Given the description of an element on the screen output the (x, y) to click on. 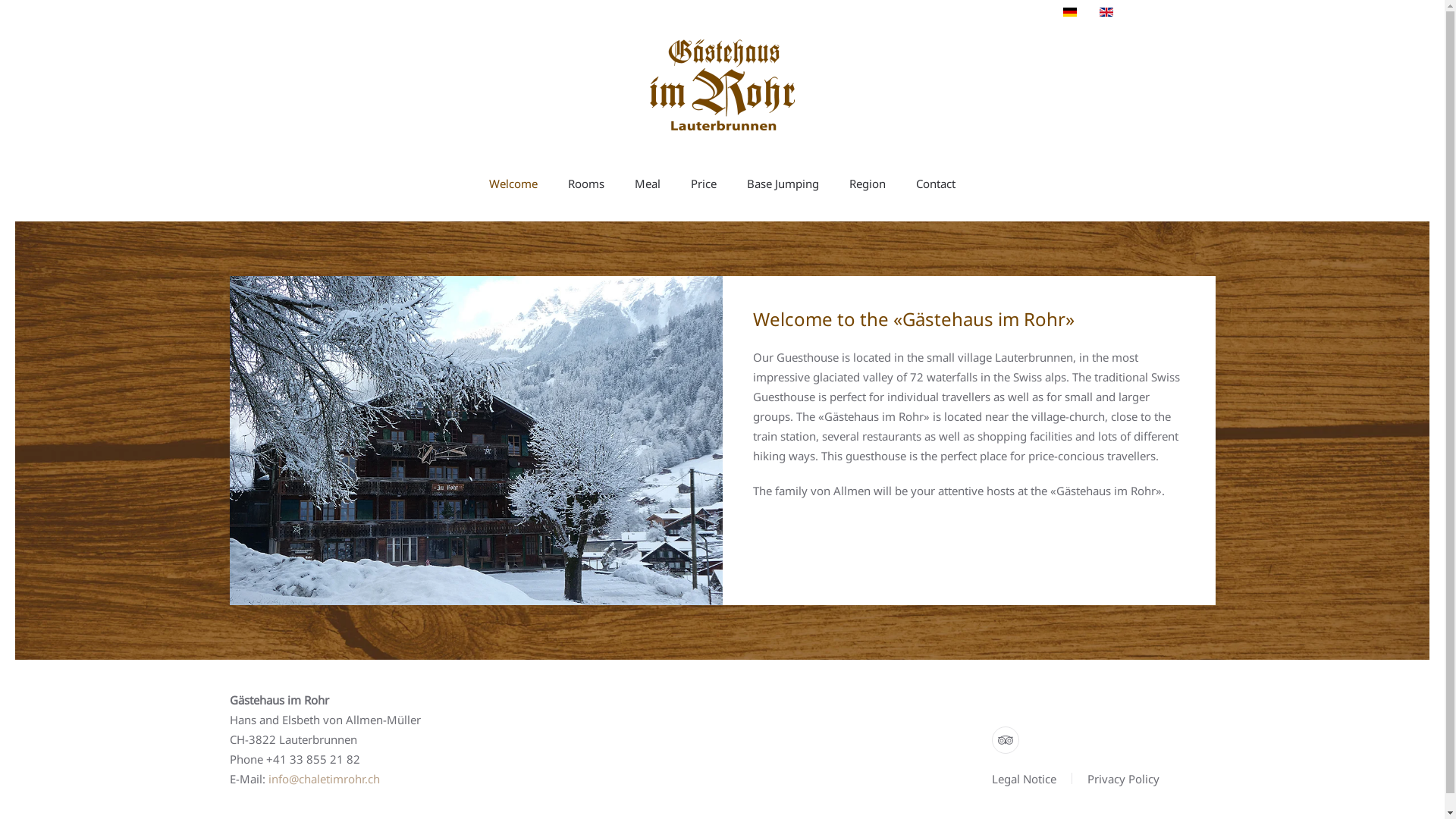
Price Element type: text (703, 183)
Region Element type: text (867, 183)
Privacy Policy Element type: text (1123, 778)
info@chaletimrohr.ch Element type: text (323, 778)
Base Jumping Element type: text (782, 183)
Rooms Element type: text (585, 183)
Meal Element type: text (647, 183)
English (United Kingdom) Element type: hover (1106, 11)
Contact Element type: text (935, 183)
Legal Notice Element type: text (1023, 778)
Deutsch (Deutschland) Element type: hover (1069, 11)
Welcome Element type: text (513, 183)
